Given the description of an element on the screen output the (x, y) to click on. 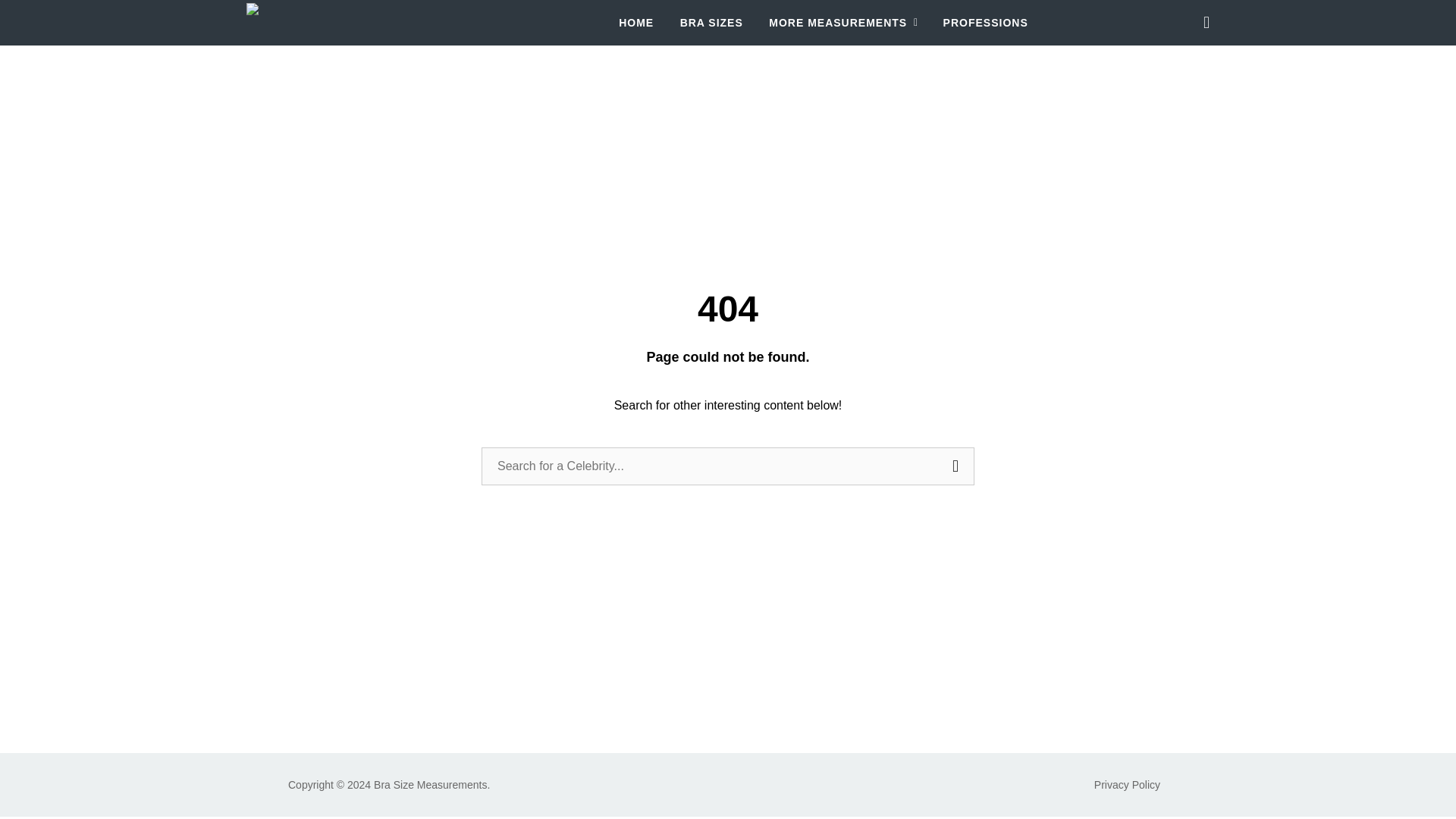
BRA SIZES (710, 22)
MORE MEASUREMENTS (843, 22)
Search (955, 466)
Privacy Policy (1127, 784)
PROFESSIONS (985, 22)
